Given the description of an element on the screen output the (x, y) to click on. 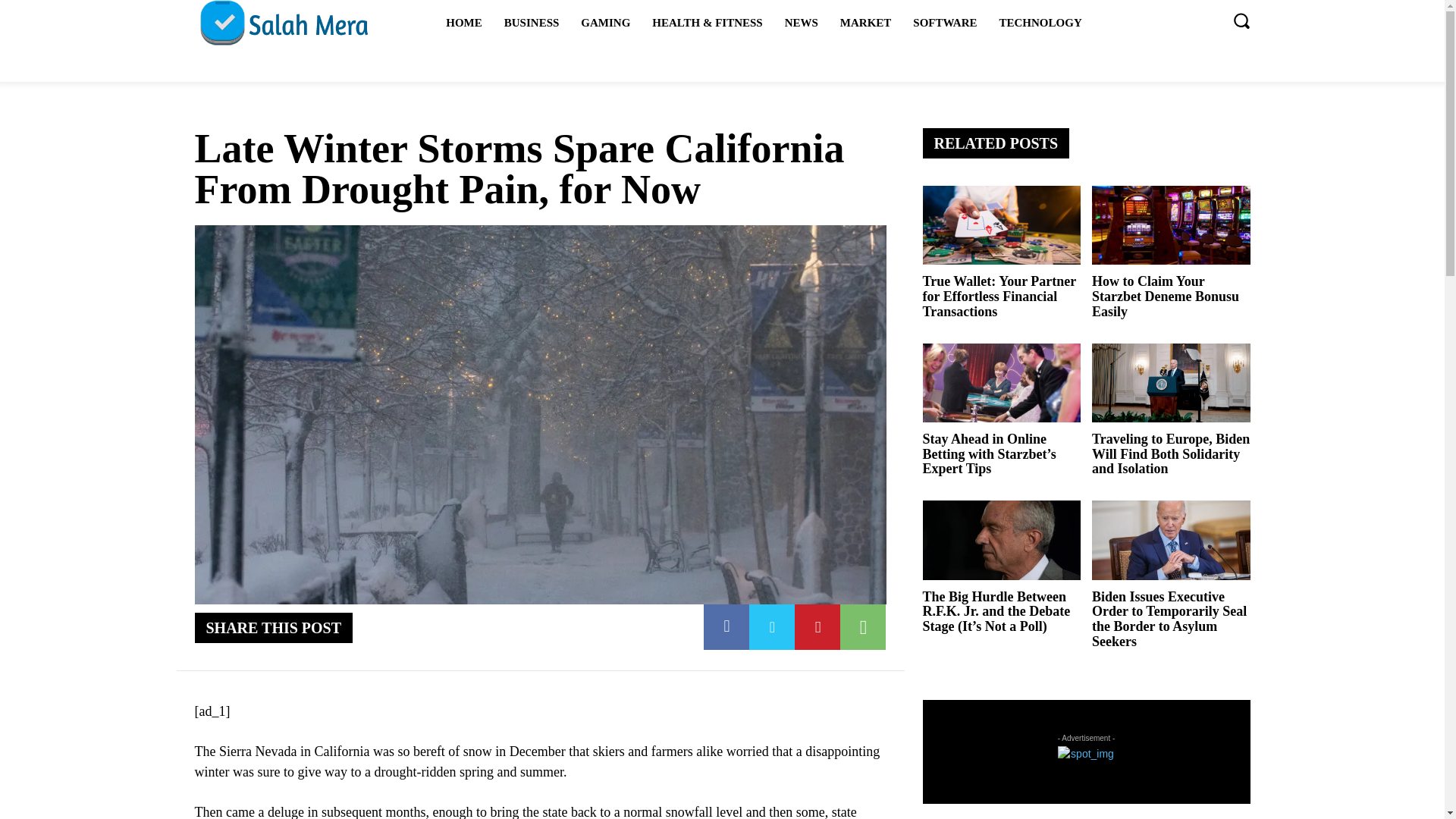
MARKET (866, 22)
GAMING (605, 22)
TECHNOLOGY (1040, 22)
Facebook (726, 627)
WhatsApp (862, 627)
Pinterest (817, 627)
NEWS (801, 22)
Twitter (771, 627)
BUSINESS (532, 22)
SOFTWARE (944, 22)
HOME (464, 22)
